Given the description of an element on the screen output the (x, y) to click on. 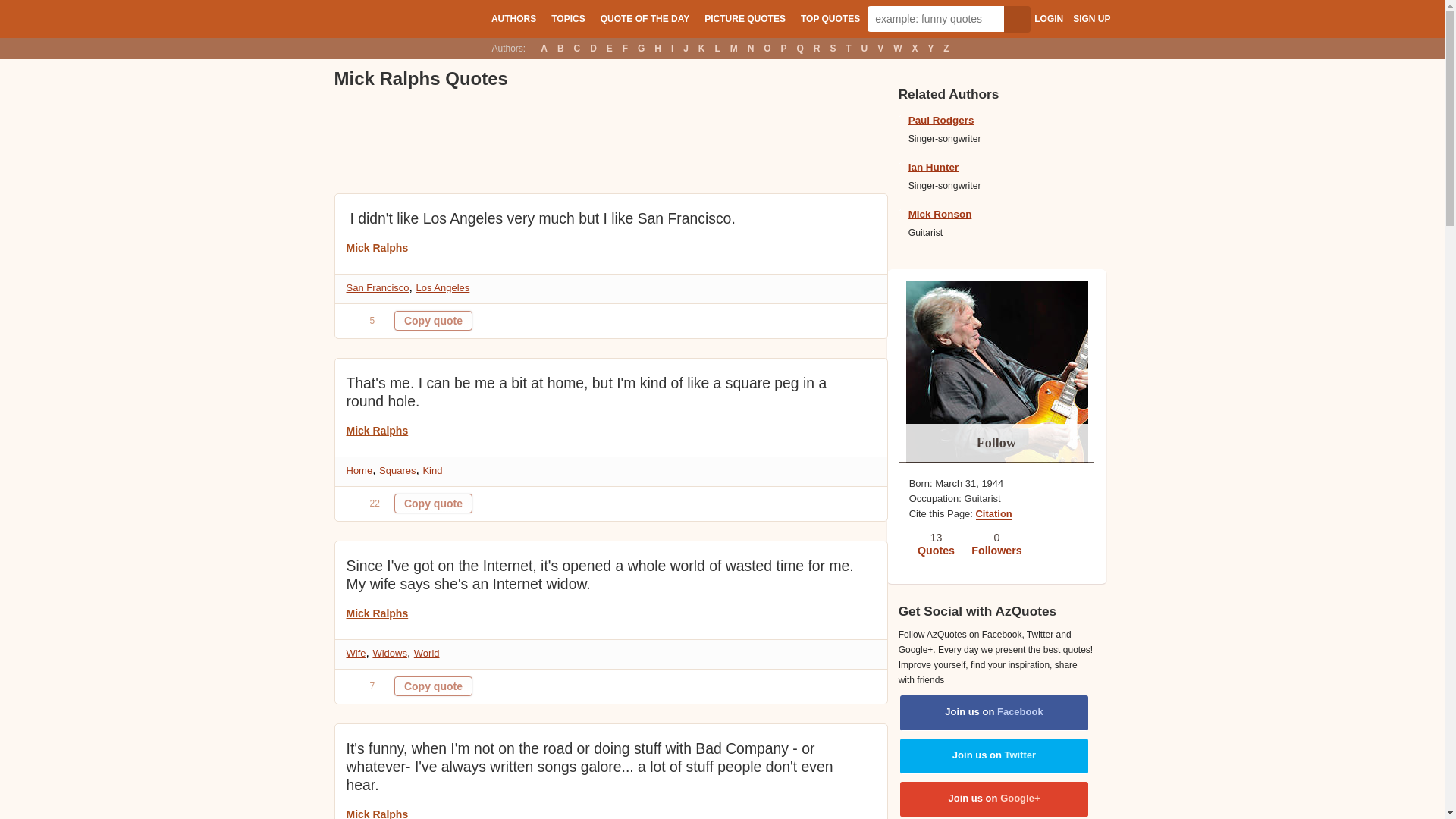
PICTURE QUOTES (745, 18)
G (640, 47)
L (717, 47)
S (833, 47)
Quote is copied (432, 320)
M (733, 47)
LOGIN (1047, 18)
Quote is copied (432, 686)
P (783, 47)
I (671, 47)
N (750, 47)
Y (930, 47)
D (592, 47)
O (767, 47)
K (700, 47)
